Given the description of an element on the screen output the (x, y) to click on. 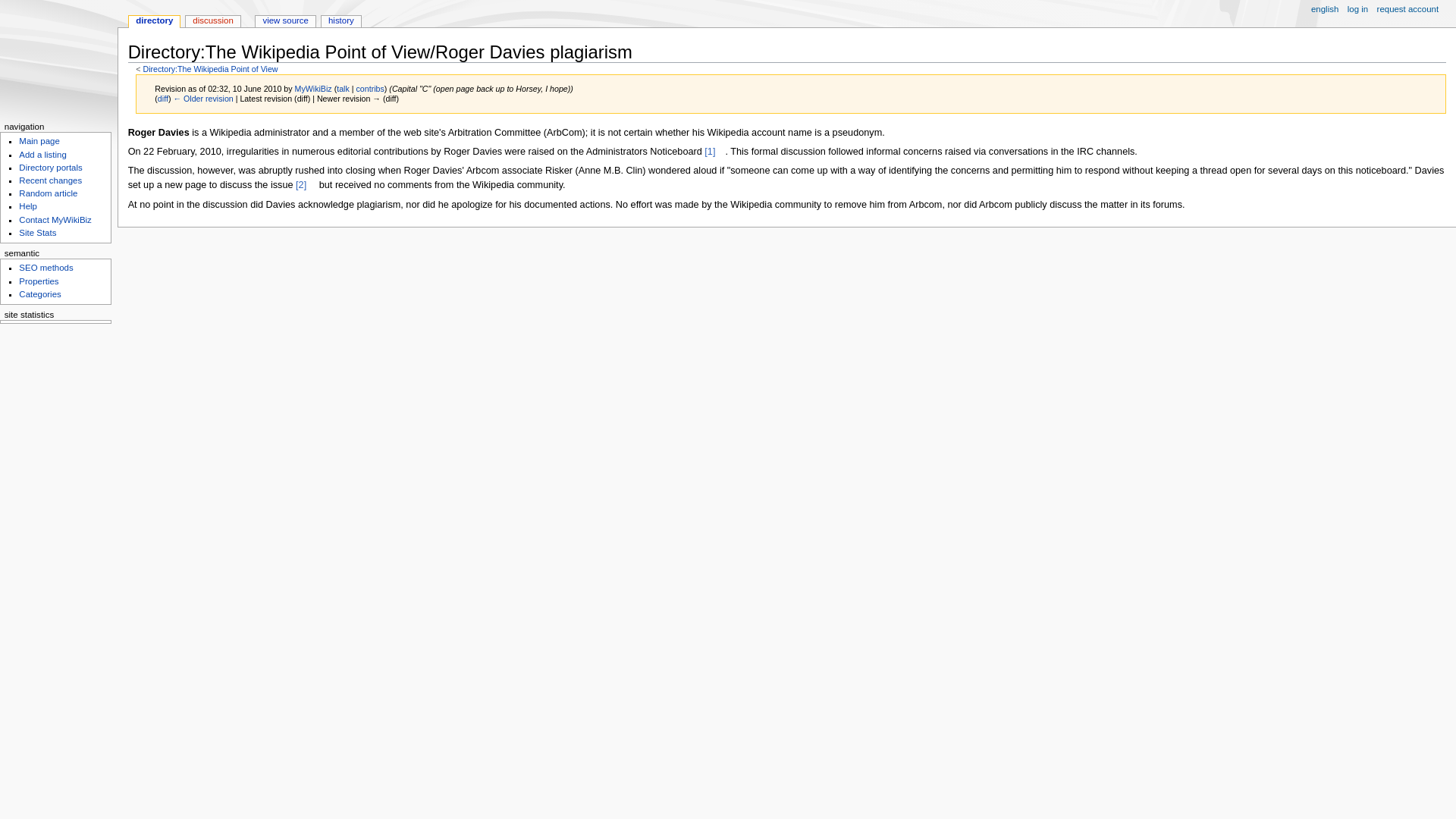
Recent changes (49, 180)
view source (285, 21)
diff (162, 98)
Random article (47, 193)
talk (342, 88)
request account (1408, 9)
User:MyWikiBiz (313, 88)
log in (1358, 9)
english (1309, 8)
Directory:The Wikipedia Point of View (210, 68)
Directory:The Wikipedia Point of View (210, 68)
Add a listing (41, 153)
Properties (38, 280)
Categories (39, 293)
history (341, 21)
